Given the description of an element on the screen output the (x, y) to click on. 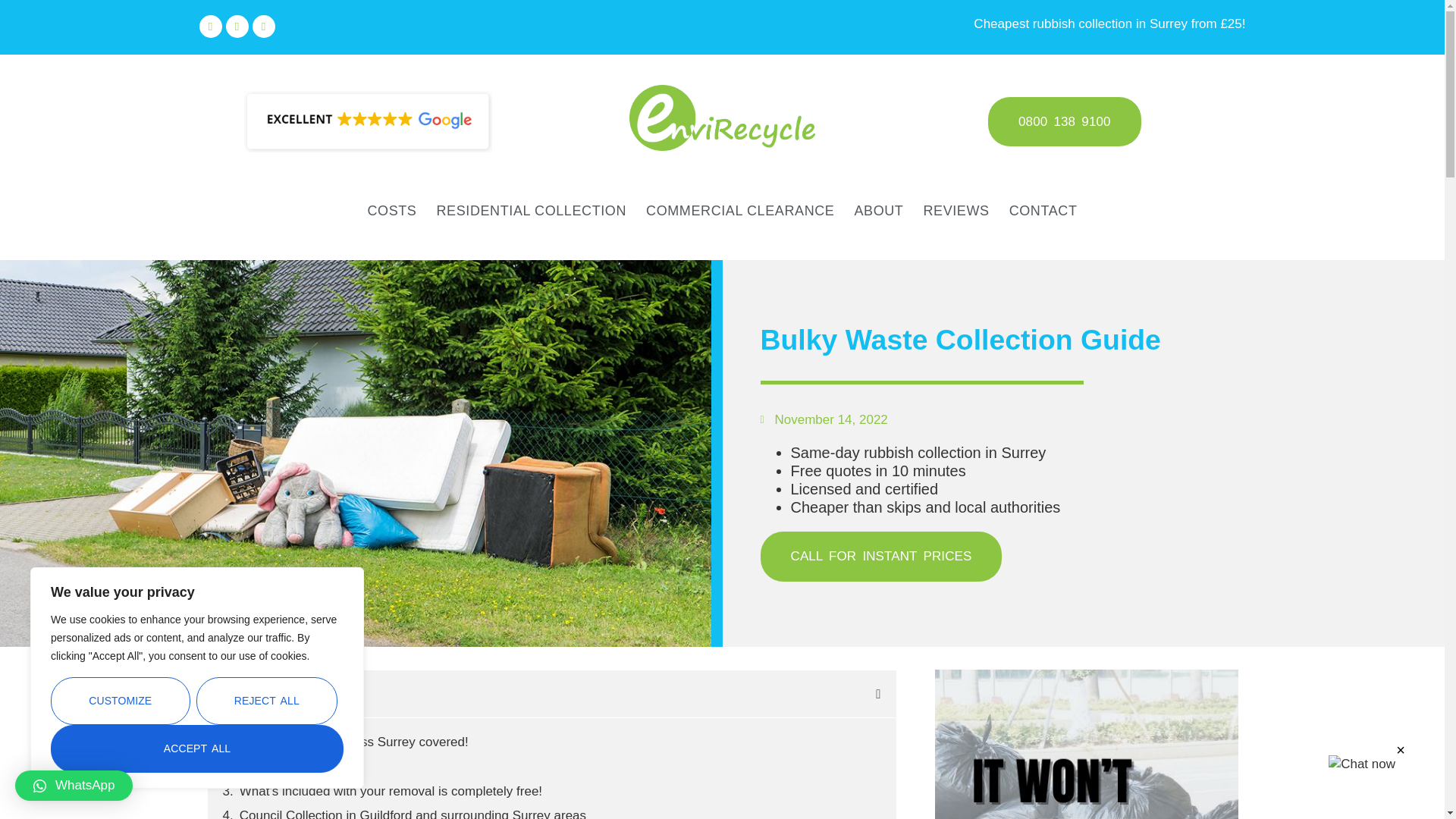
ACCEPT ALL (196, 748)
CALL FOR INSTANT PRICES (880, 556)
Bulky Waste Collection Guide (1083, 339)
0800 138 9100 (1064, 122)
REVIEWS (955, 210)
Why not give back? (296, 766)
November 14, 2022 (823, 420)
ABOUT (878, 210)
CUSTOMIZE (120, 700)
COMMERCIAL CLEARANCE (740, 210)
We have homes across Surrey covered! (354, 742)
COSTS (391, 210)
CONTACT (1042, 210)
RESIDENTIAL COLLECTION (531, 210)
REJECT ALL (266, 700)
